Given the description of an element on the screen output the (x, y) to click on. 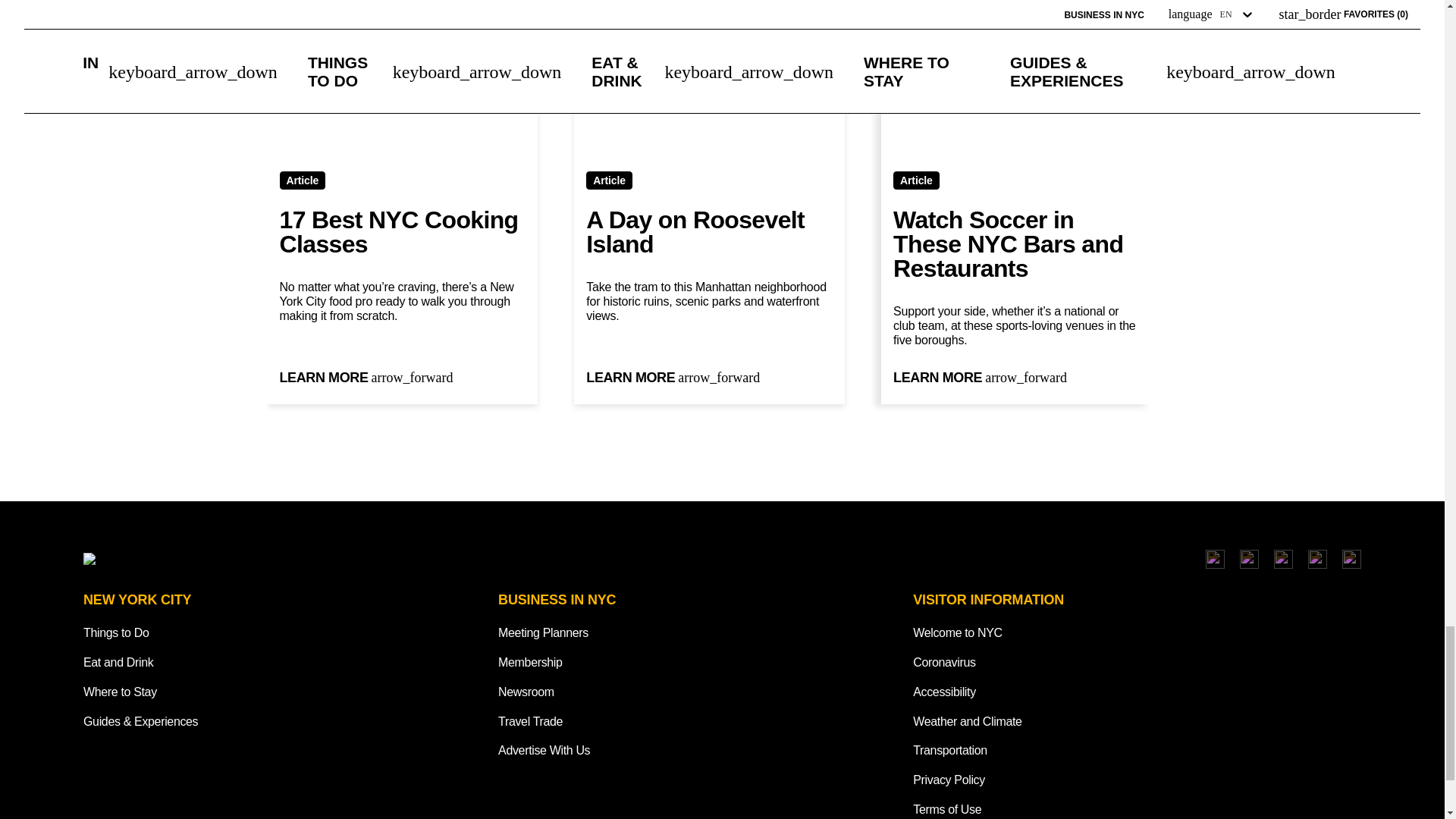
New York City Tourism and Conventions YouTube (1316, 558)
New York City Tourism and Conventions Pinterest (1351, 558)
New York City Tourism and Conventions TikTok (1283, 558)
New York City Tourism and Conventions Facebook (1249, 558)
New York City Tourism and Conventions Instagram (1214, 558)
New York City Tourism and Conventions Homepage (260, 558)
